Given the description of an element on the screen output the (x, y) to click on. 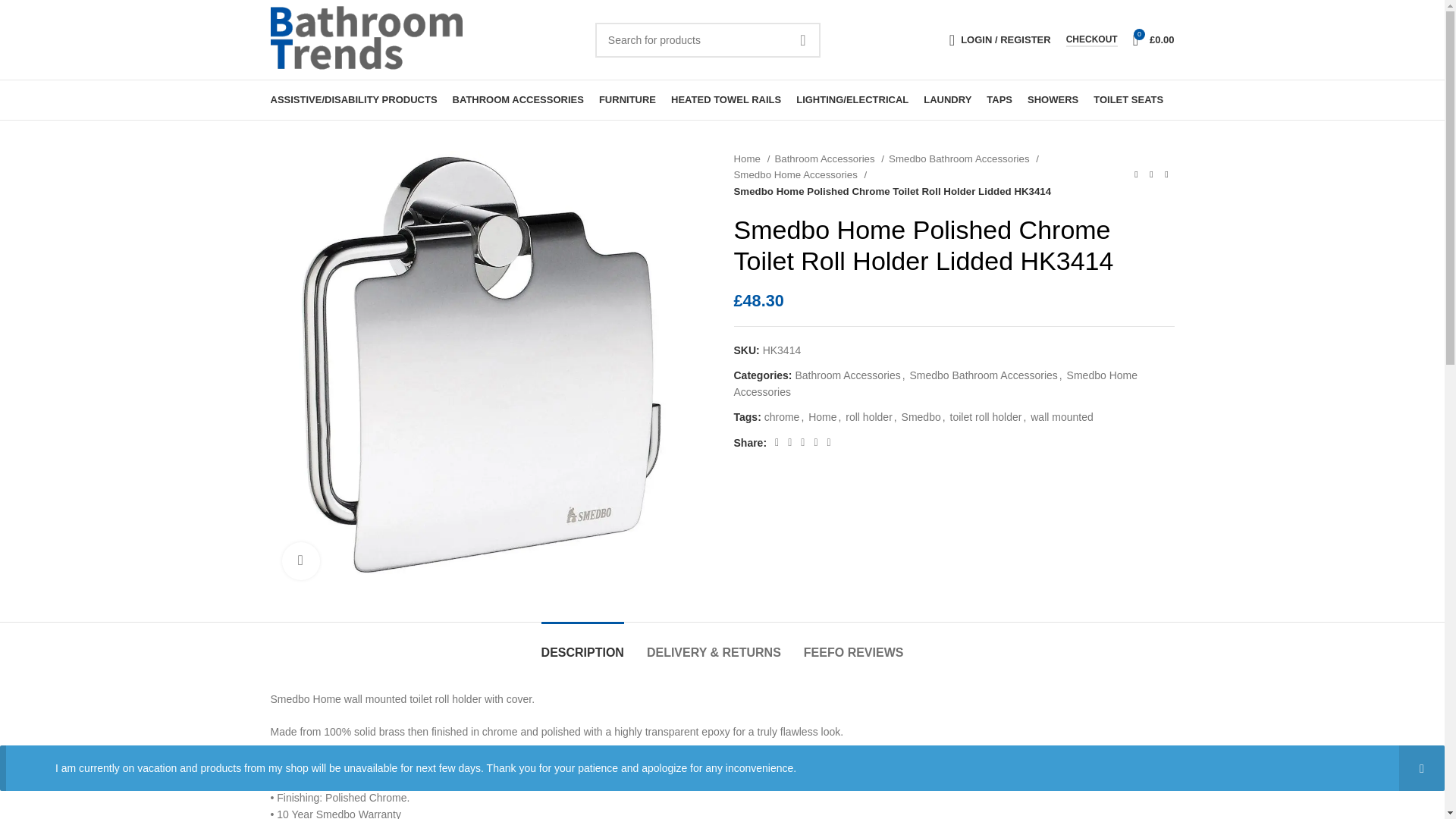
HEATED TOWEL RAILS (725, 100)
Smedbo Home Accessories (800, 174)
My account (1000, 39)
BATHROOM ACCESSORIES (517, 100)
Bathroom Accessories (828, 158)
Smedbo Bathroom Accessories (963, 158)
SHOWERS (1052, 100)
Log in (925, 281)
Home (751, 158)
Bathroom Accessories (846, 375)
